Given the description of an element on the screen output the (x, y) to click on. 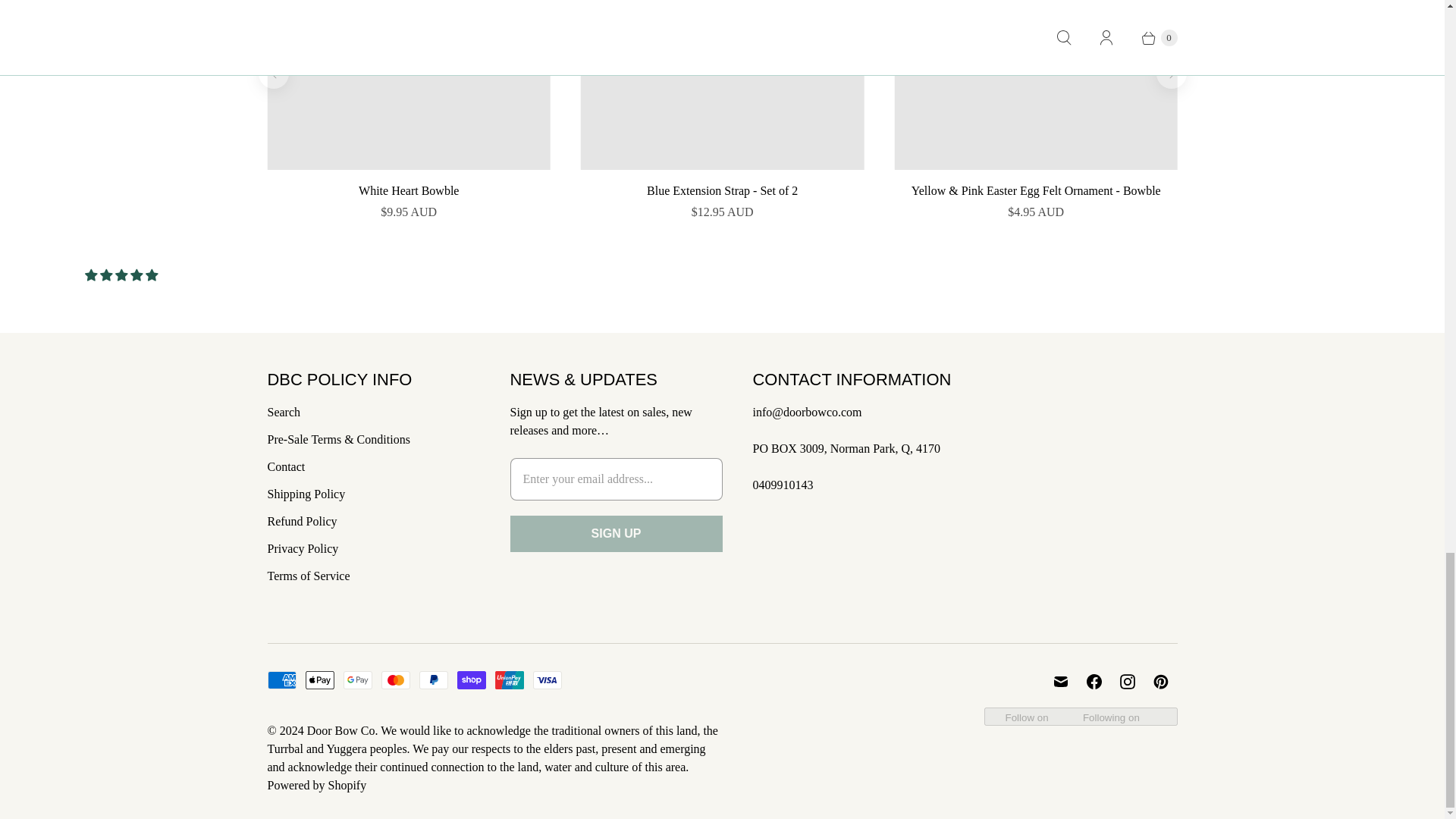
Apple Pay (318, 679)
Sign Up (615, 533)
Union Pay (508, 679)
Google Pay (356, 679)
Visa (546, 679)
Mastercard (394, 679)
PayPal (432, 679)
American Express (280, 679)
Shop Pay (470, 679)
